Given the description of an element on the screen output the (x, y) to click on. 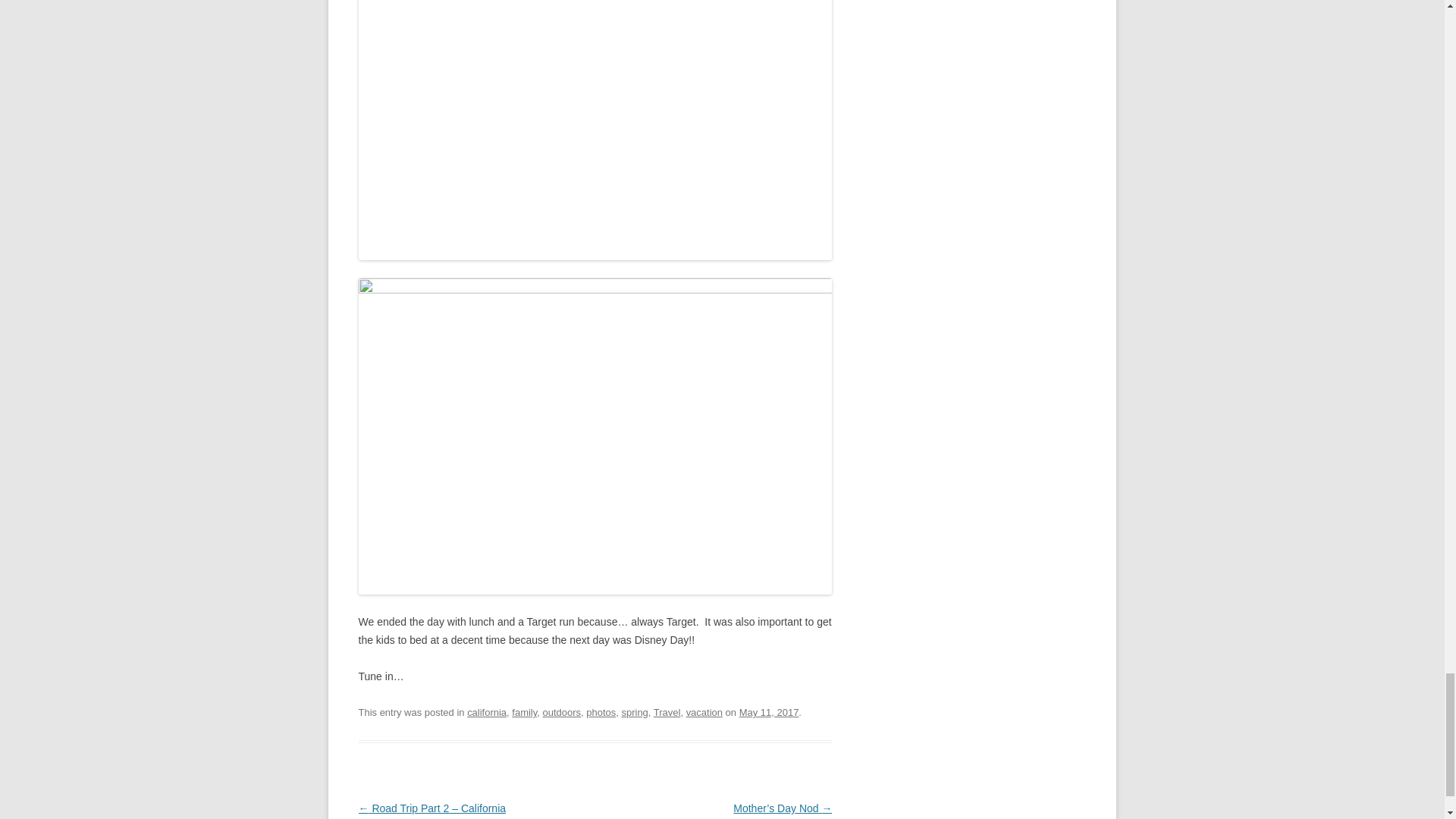
2:30 pm (769, 712)
vacation (703, 712)
spring (634, 712)
photos (600, 712)
california (486, 712)
outdoors (560, 712)
family (524, 712)
May 11, 2017 (769, 712)
Travel (667, 712)
